Given the description of an element on the screen output the (x, y) to click on. 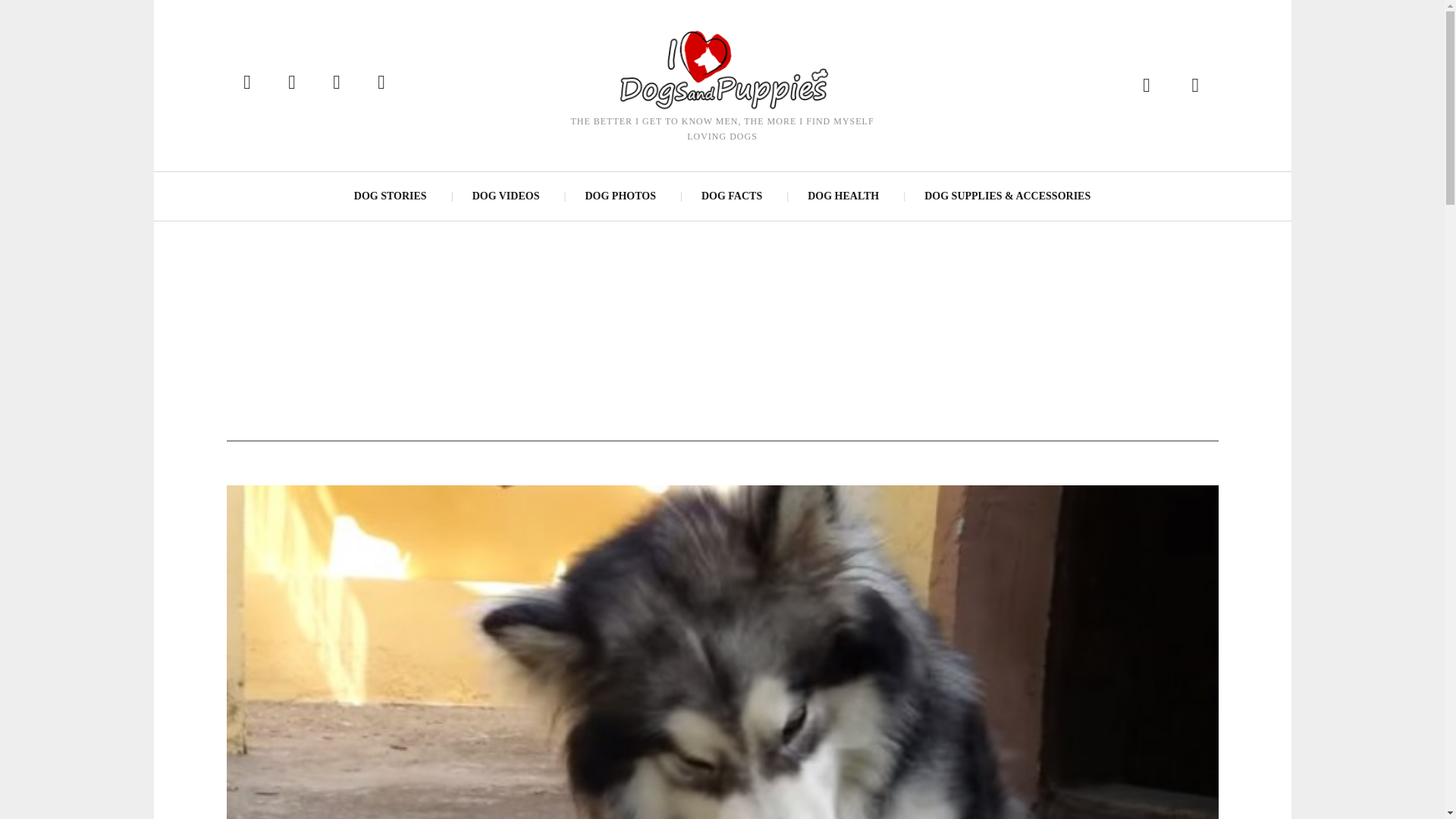
DOG VIDEOS (505, 195)
DOG PHOTOS (619, 195)
ILoveDogsAndPuppies (721, 68)
DOG STORIES (390, 195)
DOG HEALTH (842, 195)
DOG FACTS (731, 195)
